Given the description of an element on the screen output the (x, y) to click on. 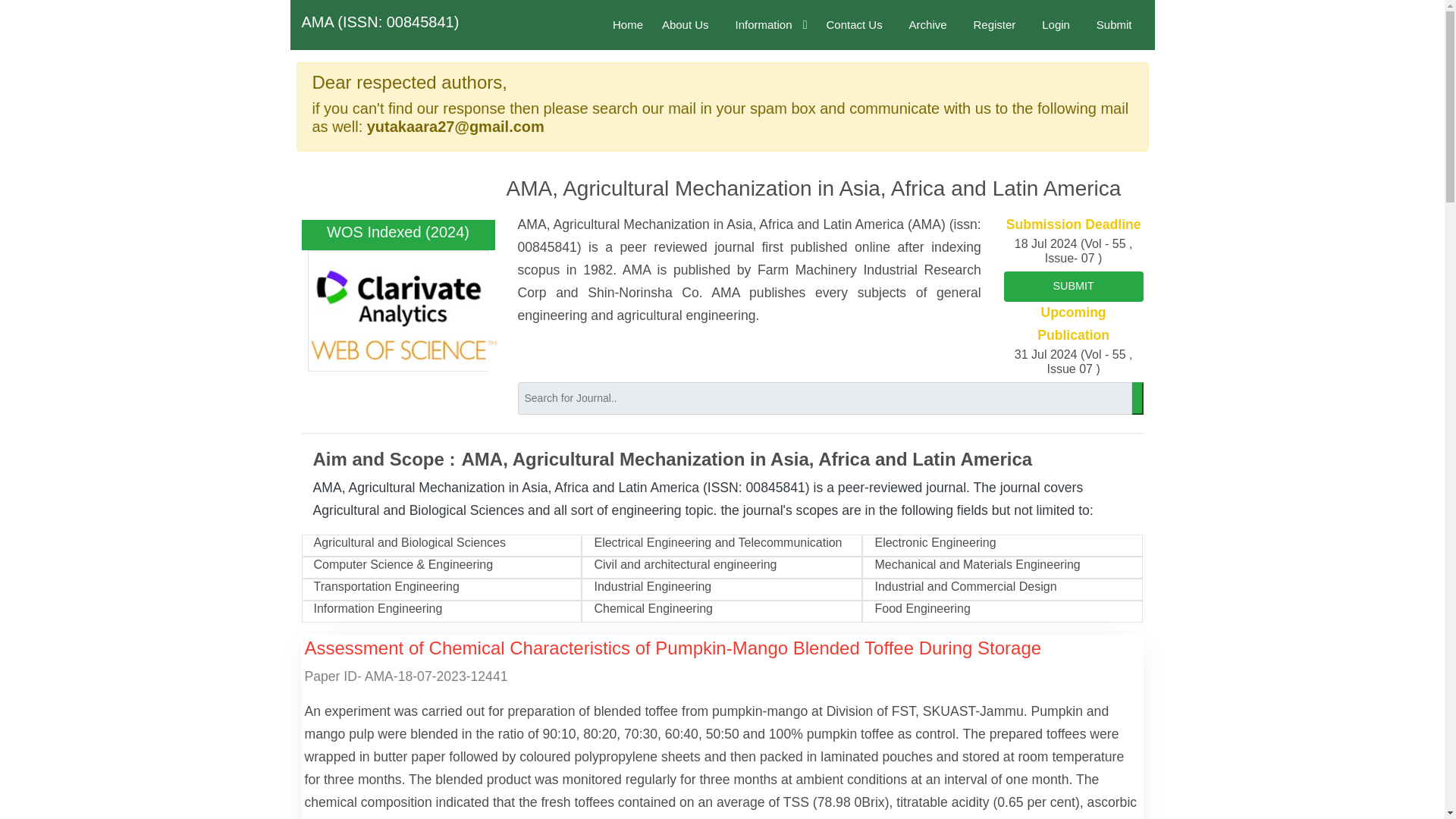
Login (1055, 24)
SUBMIT (1073, 286)
Archive (928, 24)
Information (768, 24)
Submit (1114, 24)
Register (994, 24)
Home (627, 24)
Contact Us (853, 24)
Contact Us (853, 24)
Archive (928, 24)
About Us (689, 24)
